Given the description of an element on the screen output the (x, y) to click on. 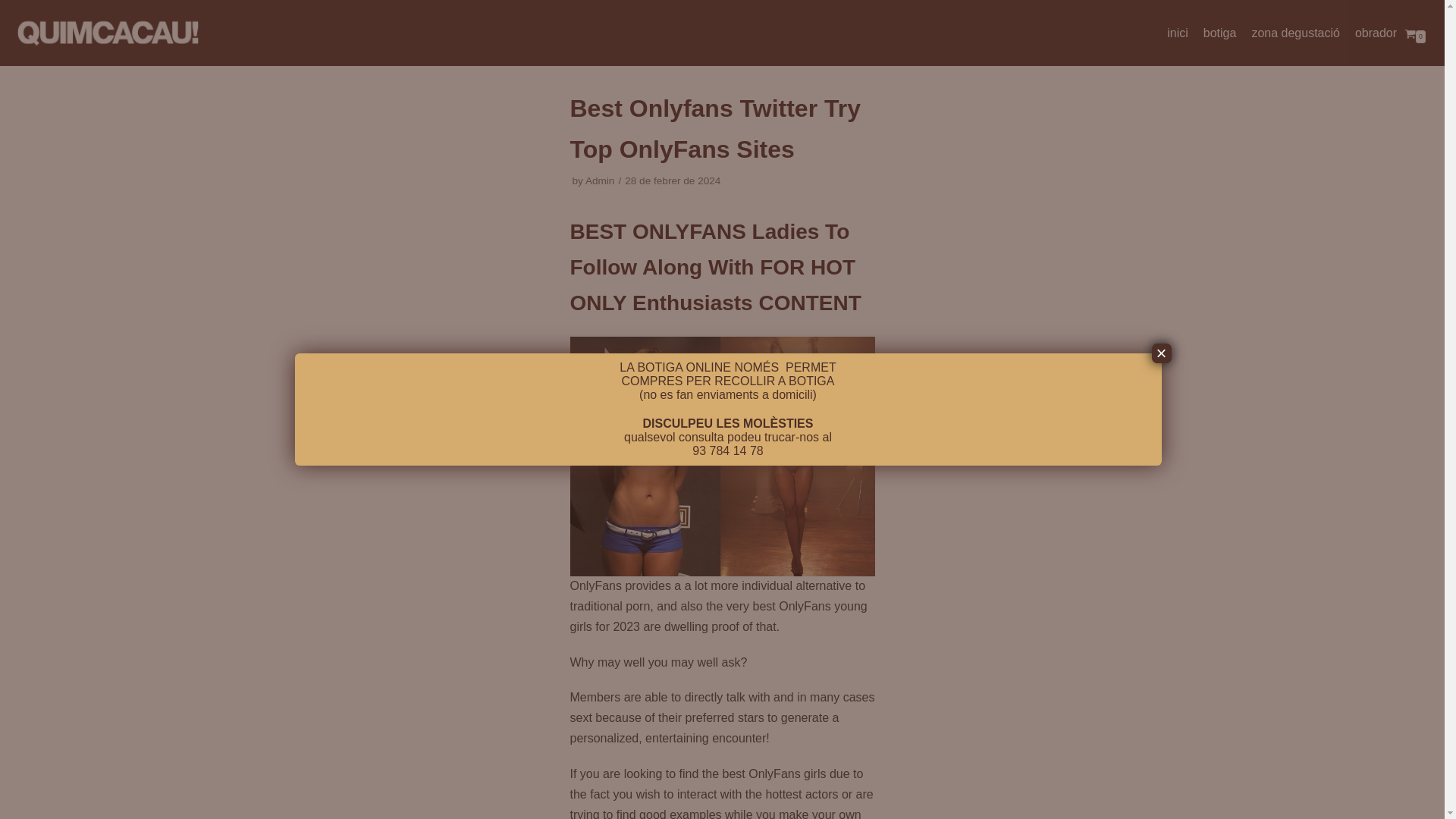
obrador (1375, 33)
Posts by Admin (599, 180)
inici (1177, 33)
botiga (1220, 33)
Skip to content (15, 7)
Admin (599, 180)
0 (1415, 32)
QUIMCACAU! (105, 32)
